Given the description of an element on the screen output the (x, y) to click on. 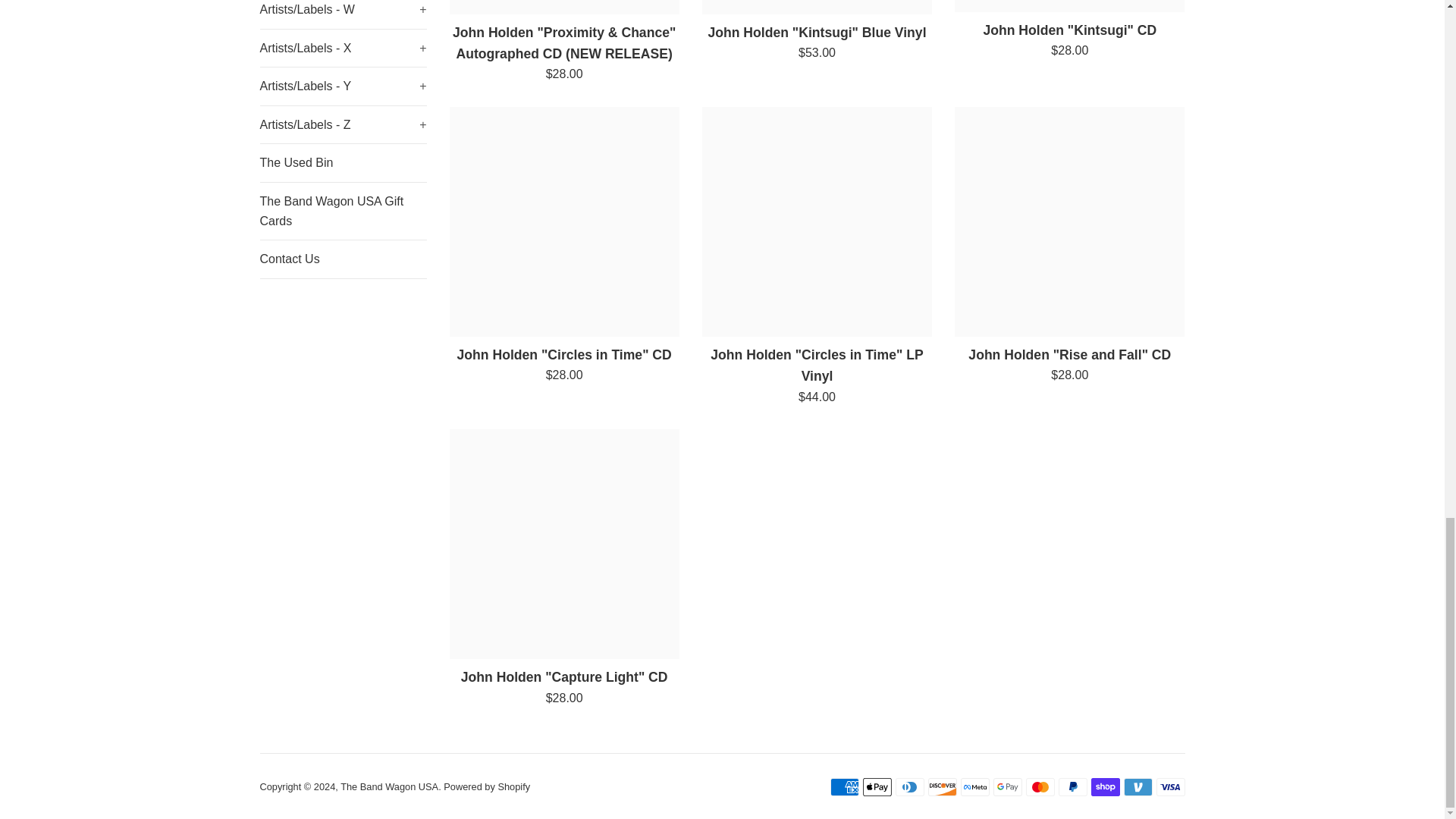
Meta Pay (973, 787)
Google Pay (1007, 787)
John Holden "Kintsugi" CD (1070, 6)
John Holden "Circles in Time" LP Vinyl (816, 221)
John Holden "Rise and Fall" CD (1070, 221)
John Holden "Capture Light" CD (563, 544)
Venmo (1138, 787)
John Holden "Circles in Time" CD (563, 221)
Mastercard (1039, 787)
Diners Club (909, 787)
Visa (1170, 787)
Discover (942, 787)
John Holden "Kintsugi" Blue Vinyl (816, 7)
PayPal (1072, 787)
Apple Pay (877, 787)
